Given the description of an element on the screen output the (x, y) to click on. 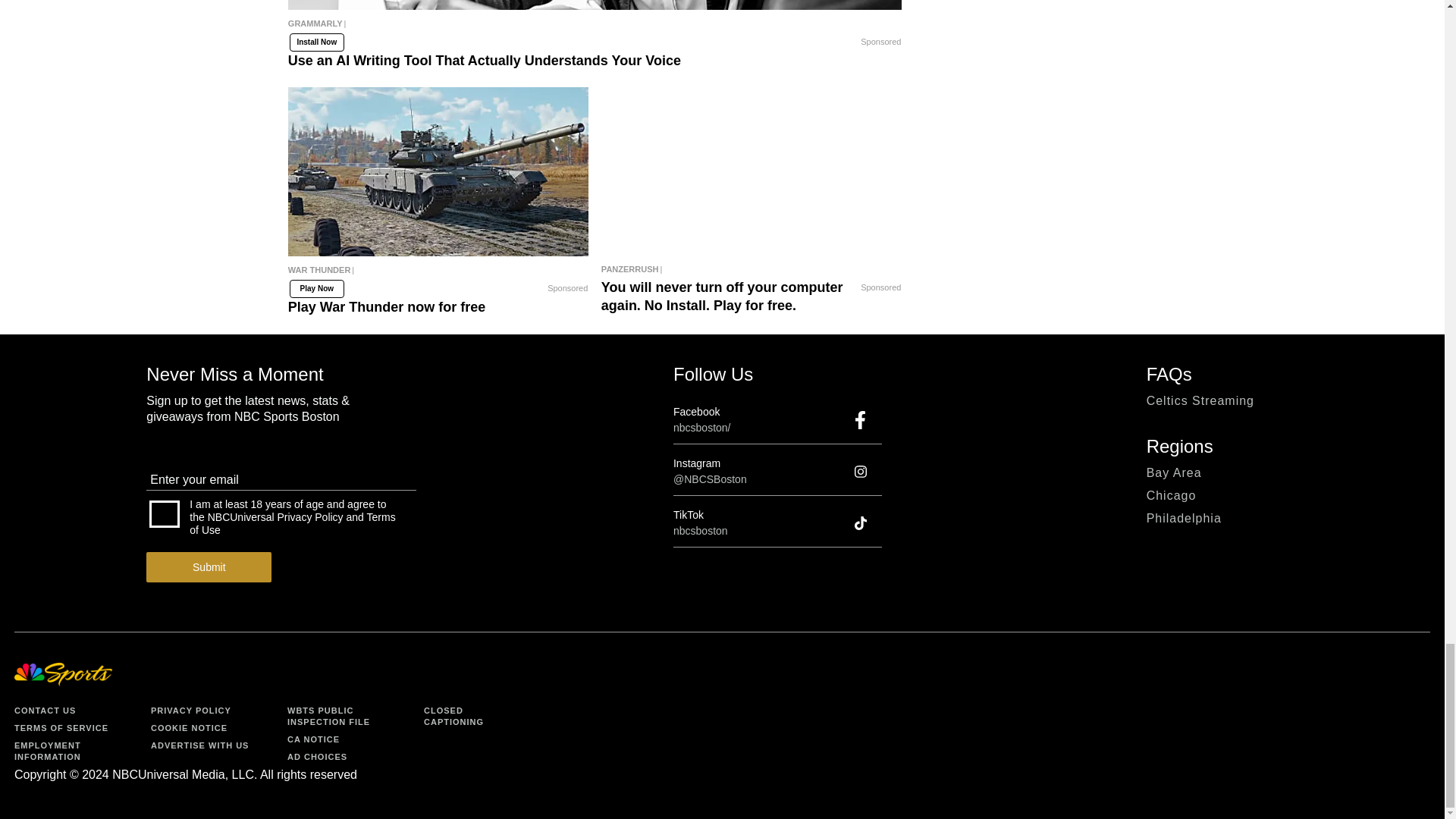
Play War Thunder now for free (438, 171)
on (164, 513)
Use an AI Writing Tool That Actually Understands Your Voice (595, 4)
Use an AI Writing Tool That Actually Understands Your Voice (595, 29)
Play War Thunder now for free (438, 276)
